Given the description of an element on the screen output the (x, y) to click on. 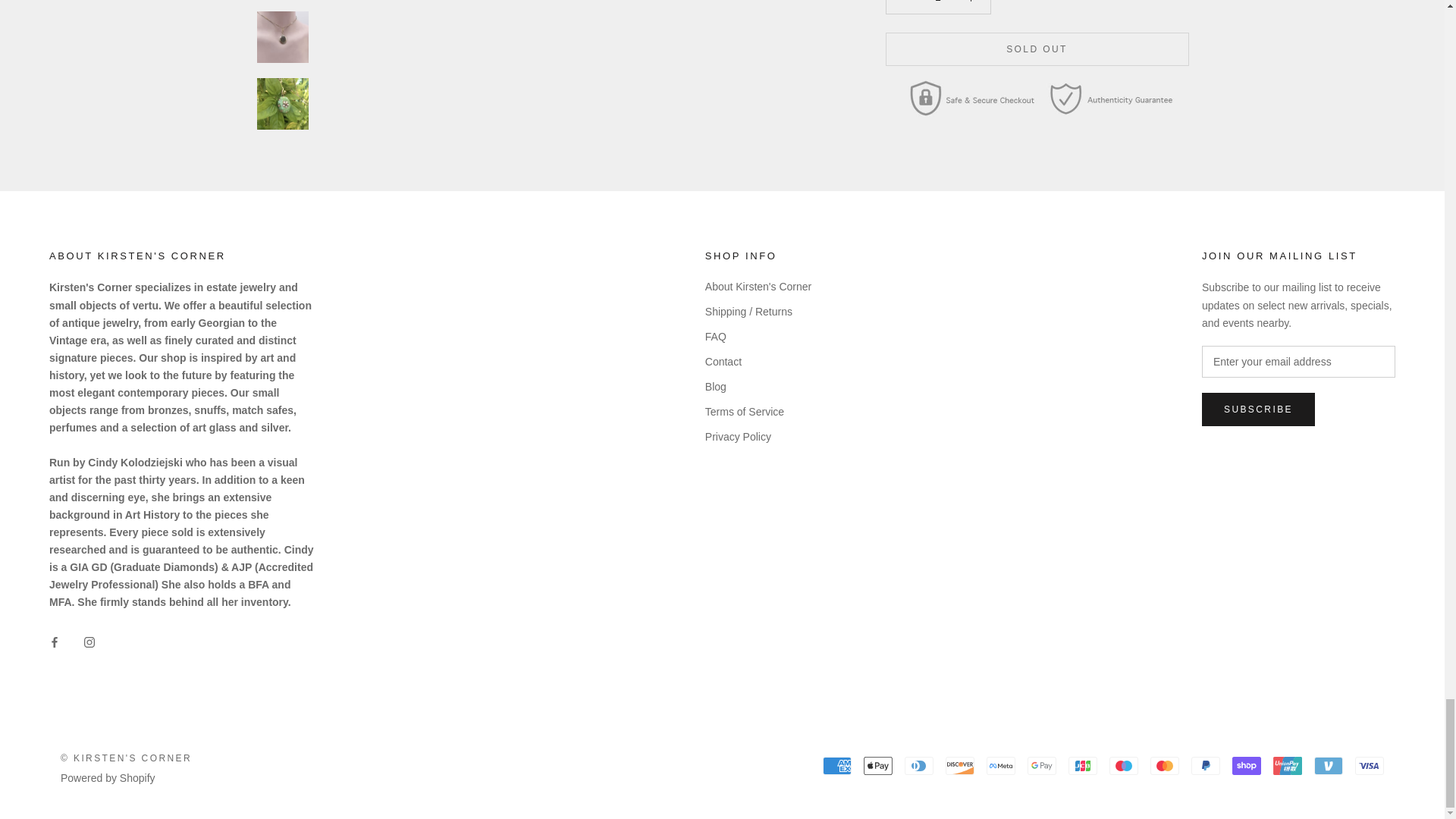
Shop Pay (1245, 765)
JCB (1082, 765)
Mastercard (1164, 765)
Meta Pay (1000, 765)
Google Pay (1042, 765)
Apple Pay (877, 765)
PayPal (1205, 765)
Diners Club (918, 765)
Discover (959, 765)
Maestro (1123, 765)
